Given the description of an element on the screen output the (x, y) to click on. 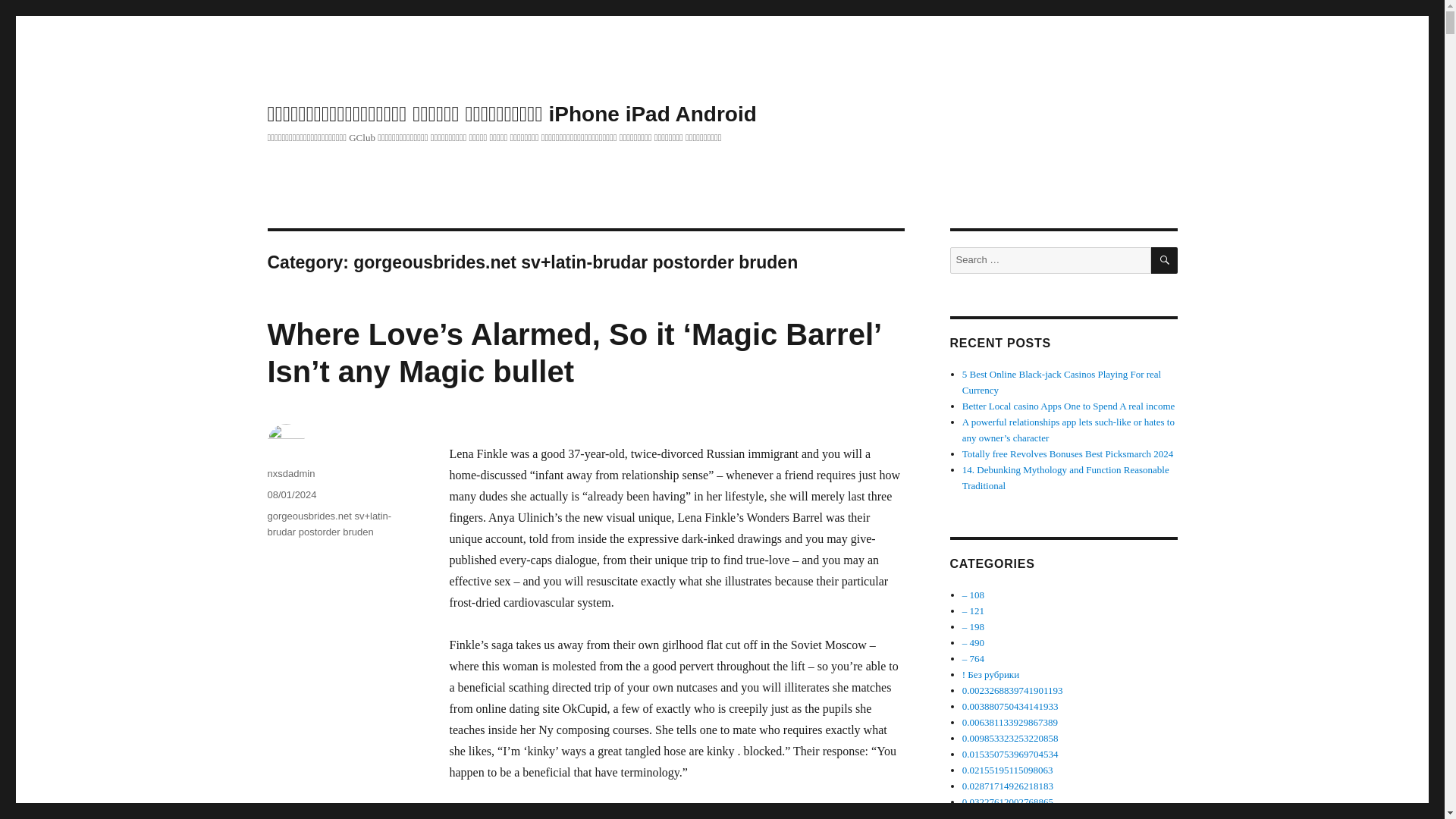
5 Best Online Black-jack Casinos Playing For real Currency (1061, 381)
0.015350753969704534 (1010, 754)
0.0023268839741901193 (1012, 690)
Totally free Revolves Bonuses Best Picksmarch 2024 (1067, 453)
0.02155195115098063 (1007, 769)
Better Local casino Apps One to Spend A real income (1068, 405)
SEARCH (1164, 260)
0.009853323253220858 (1010, 737)
14. Debunking Mythology and Function Reasonable Traditional (1065, 477)
Casino Oyunlar - 1xbet download ios apk (973, 626)
0.038674021625345056 (1010, 815)
0.03227612002768865 (1007, 801)
0.006381133929867389 (1010, 722)
nxsdadmin (290, 473)
0.02871714926218183 (1007, 785)
